Given the description of an element on the screen output the (x, y) to click on. 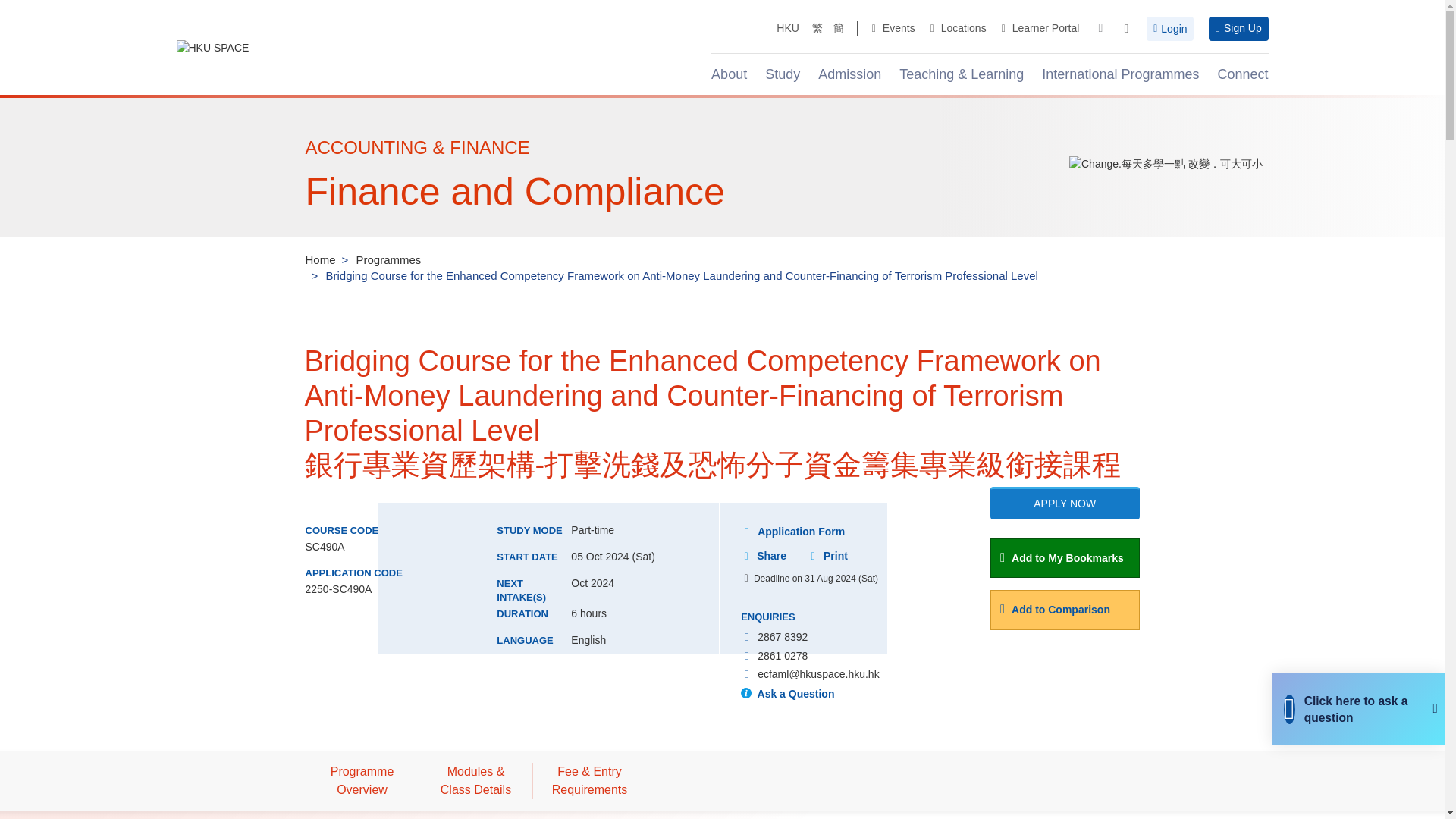
Learner Portal (1040, 28)
Events (893, 28)
Sign Up (1238, 28)
HKU (787, 28)
About (733, 74)
Locations (958, 28)
Simplified Chinese (838, 28)
Open search panel (1126, 28)
Login (1170, 28)
Traditional Chinese (817, 28)
